Given the description of an element on the screen output the (x, y) to click on. 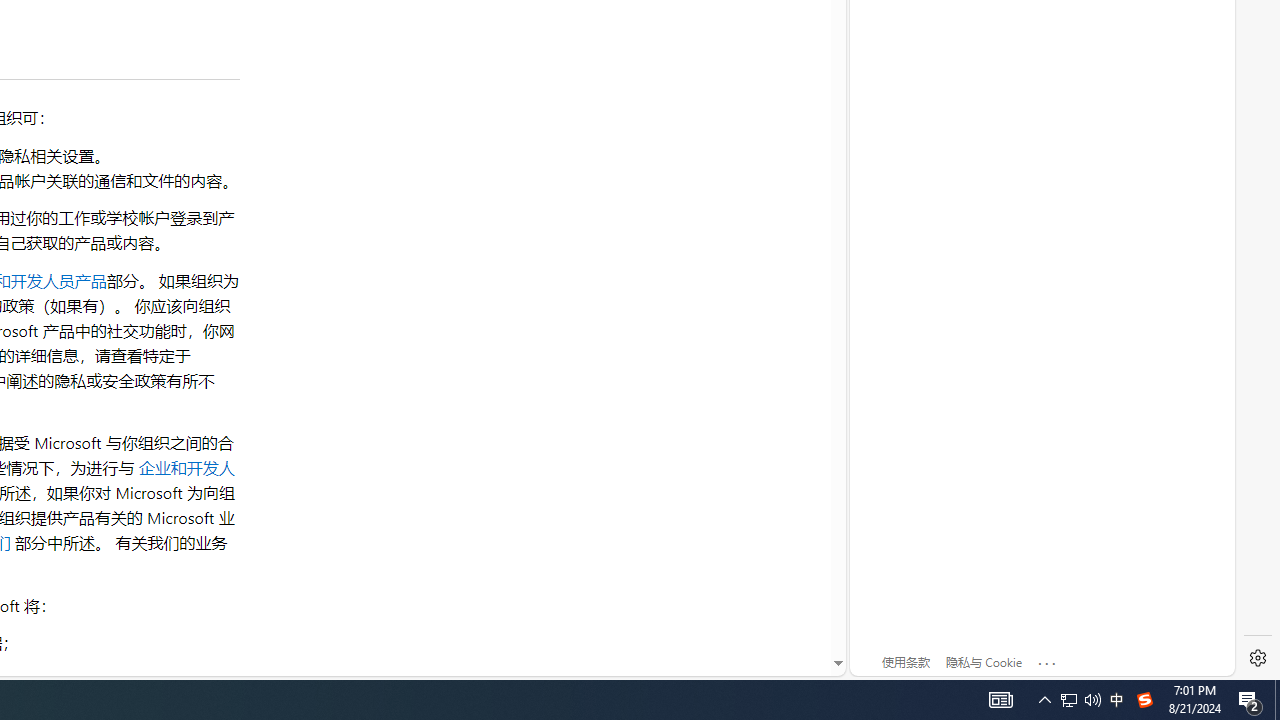
Tray Input Indicator - Chinese (Simplified, China) (1144, 699)
Notification Chevron (1044, 699)
Q2790: 100% (1069, 699)
Action Center, 2 new notifications (1092, 699)
User Promoted Notification Area (1250, 699)
Show desktop (1080, 699)
AutomationID: 4105 (1277, 699)
